Given the description of an element on the screen output the (x, y) to click on. 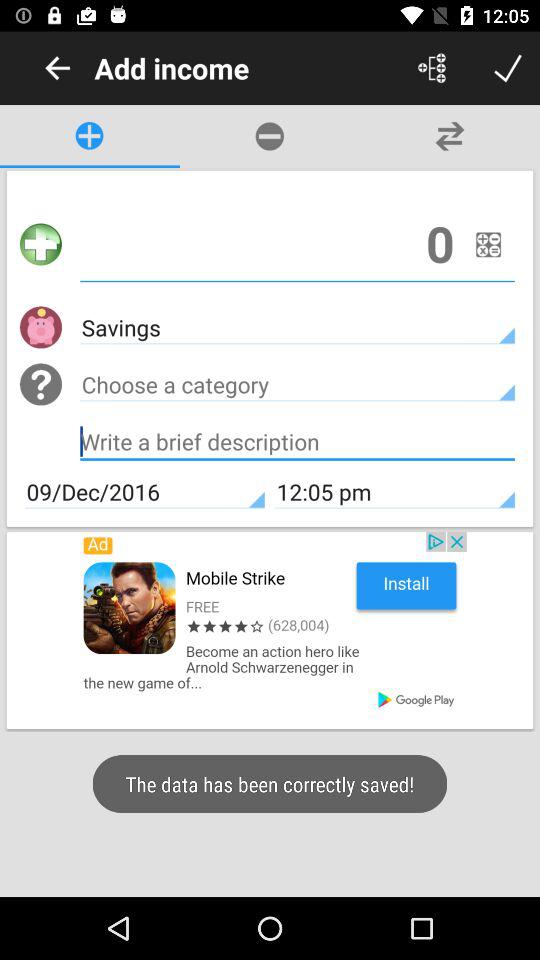
enter an income amount (297, 244)
